Given the description of an element on the screen output the (x, y) to click on. 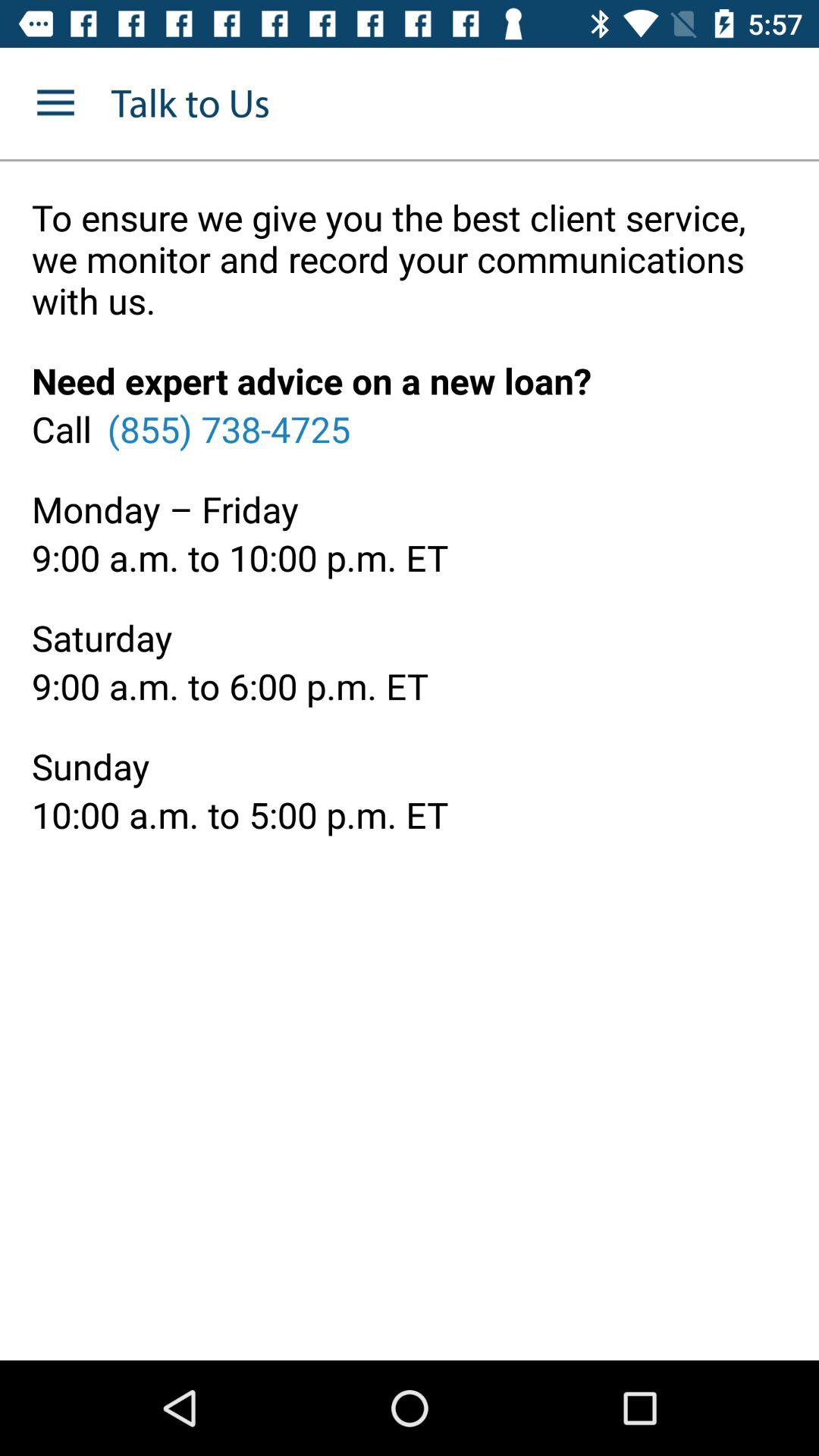
select the text below the bold text beside call (228, 428)
